Given the description of an element on the screen output the (x, y) to click on. 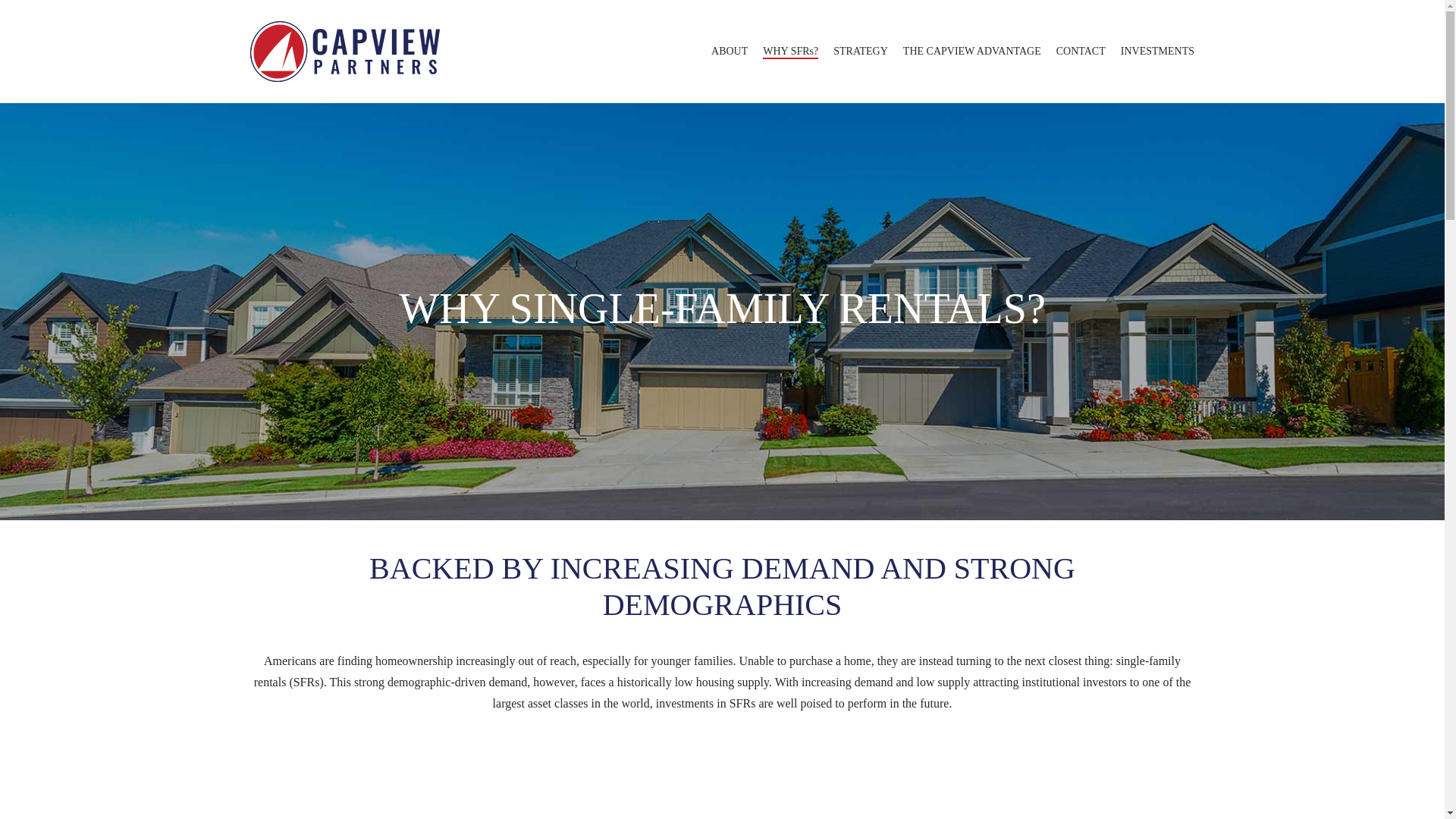
INVESTMENTS (1157, 51)
THE CAPVIEW ADVANTAGE (971, 51)
WHY SFRs? (790, 51)
CONTACT (1081, 51)
ABOUT (729, 51)
STRATEGY (860, 51)
